Given the description of an element on the screen output the (x, y) to click on. 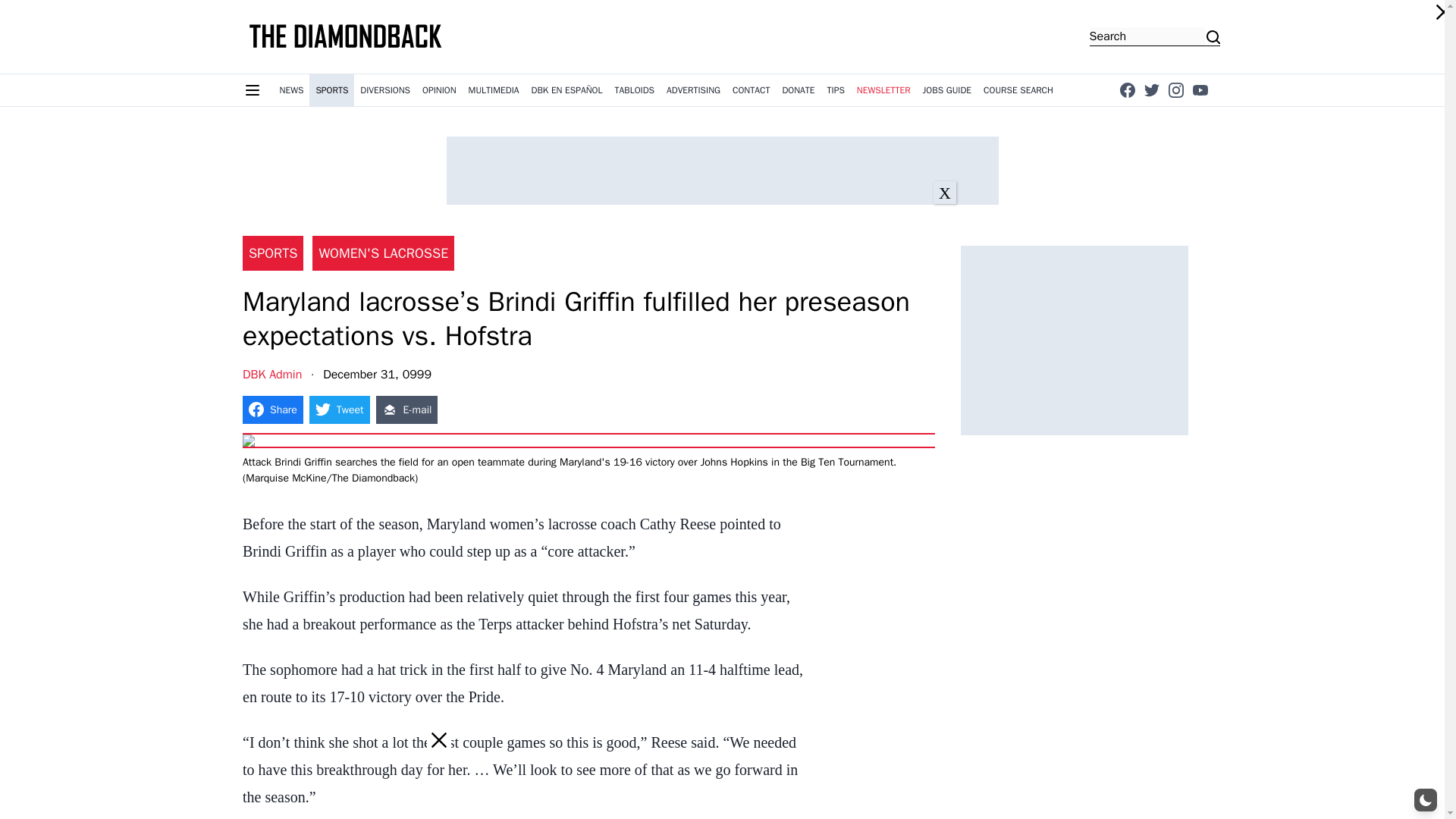
Tabloids (634, 90)
Tips (835, 90)
Diversions (384, 90)
Contact (751, 90)
Multimedia (494, 90)
NEWS (290, 90)
News (290, 90)
TIPS (835, 90)
Newsletter (883, 90)
Sports (330, 90)
Jobs Guide (947, 90)
COURSE SEARCH (1017, 90)
The Diamondback (345, 36)
CONTACT (751, 90)
ADVERTISING (693, 90)
